Given the description of an element on the screen output the (x, y) to click on. 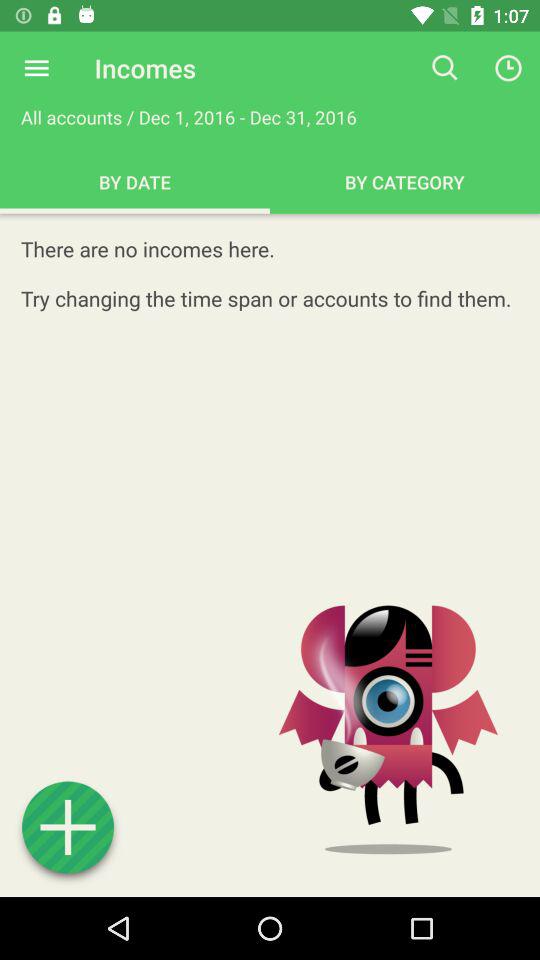
click item above the by category item (444, 67)
